Given the description of an element on the screen output the (x, y) to click on. 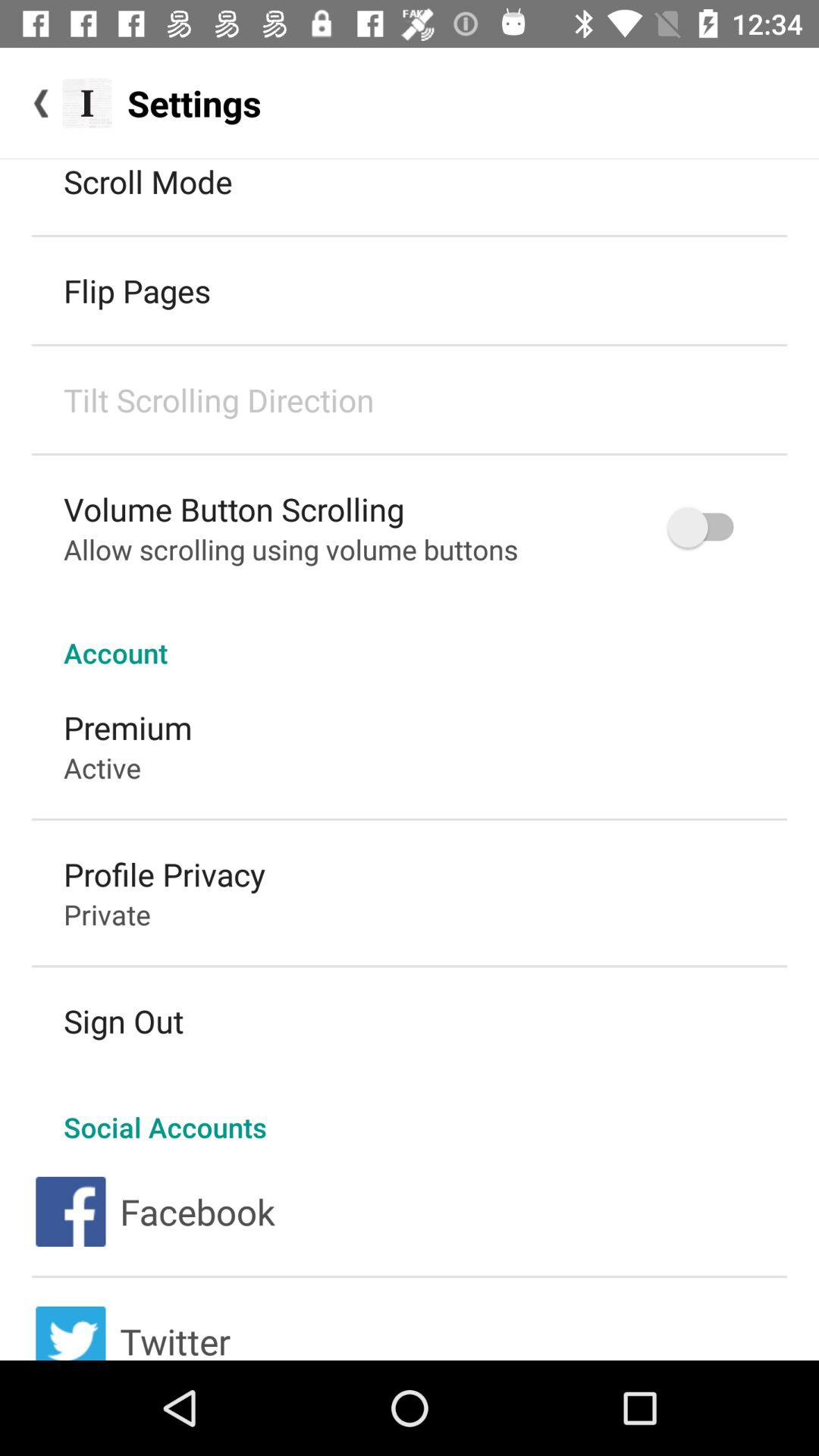
select the icon above flip pages item (147, 181)
